Given the description of an element on the screen output the (x, y) to click on. 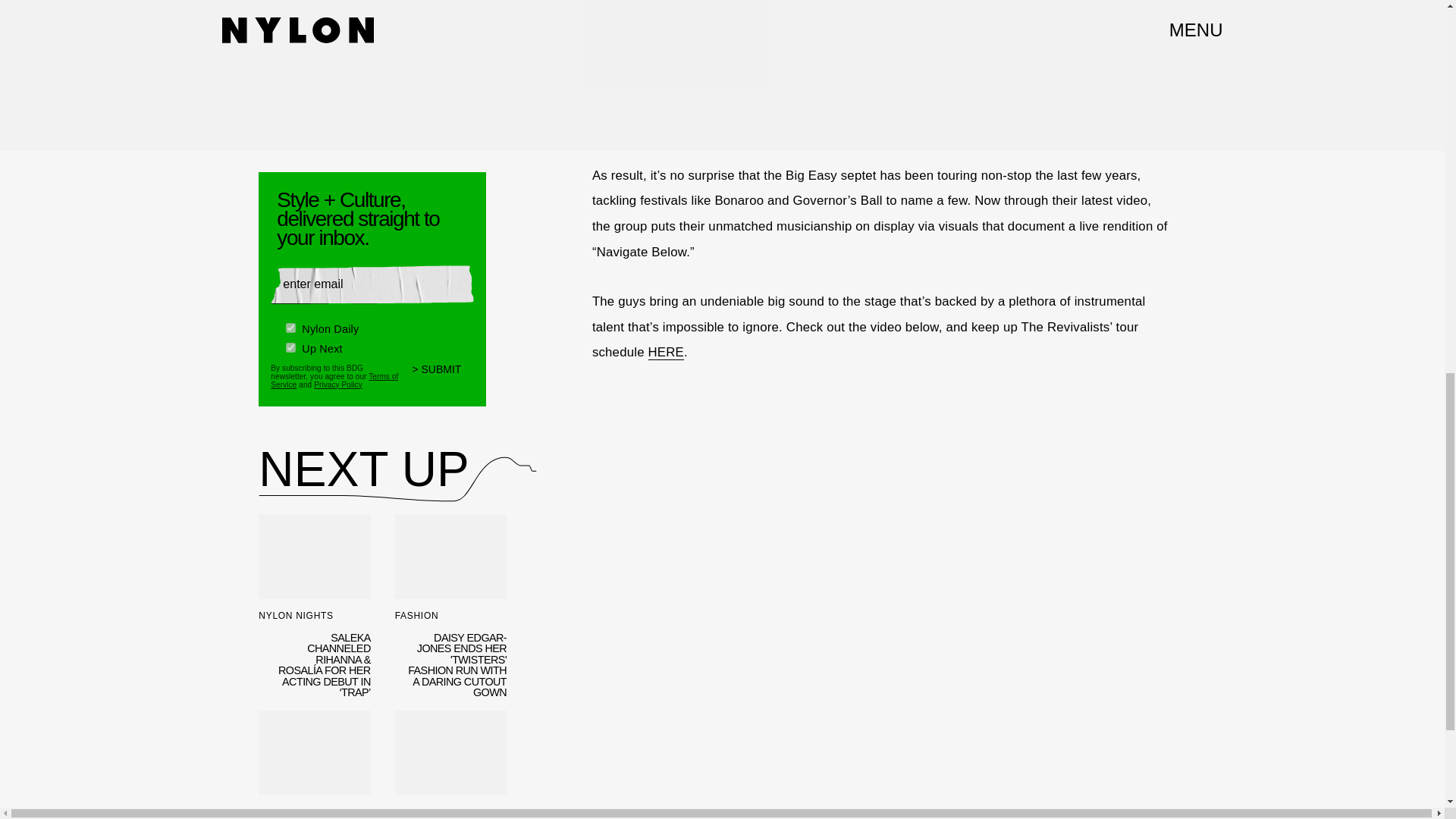
HERE (665, 352)
Privacy Policy (338, 384)
Terms of Service (333, 378)
KATY PERRY WORE THE NAKEDEST SHOES FOR HER NEW MUSIC VIDEO (450, 764)
SUBMIT (443, 376)
